Given the description of an element on the screen output the (x, y) to click on. 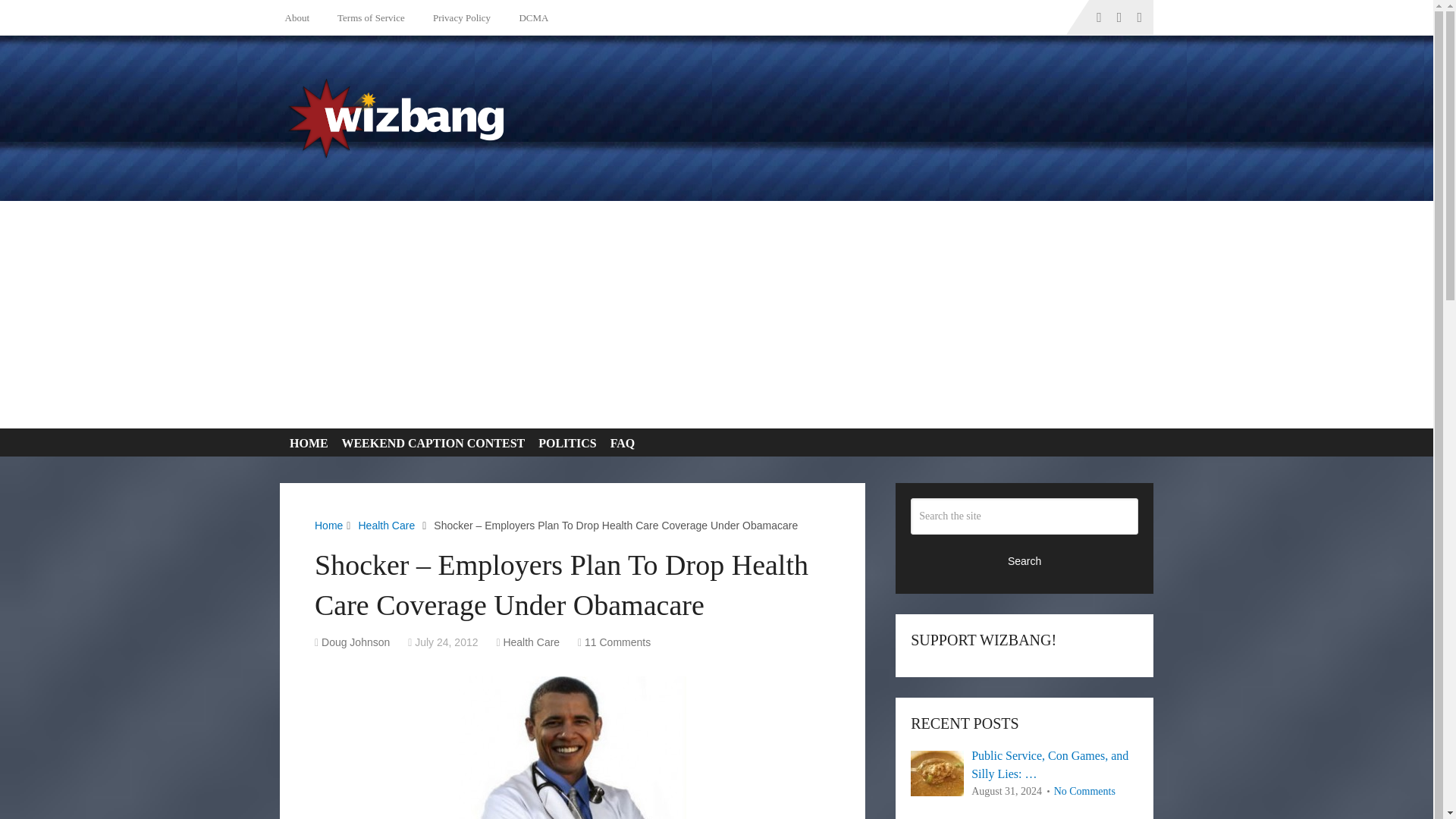
Health Care (386, 525)
WEEKEND CAPTION CONTEST (430, 443)
Search (1024, 560)
Privacy Policy (459, 17)
Doug Johnson (355, 642)
FAQ (619, 443)
Health Care (530, 642)
